Given the description of an element on the screen output the (x, y) to click on. 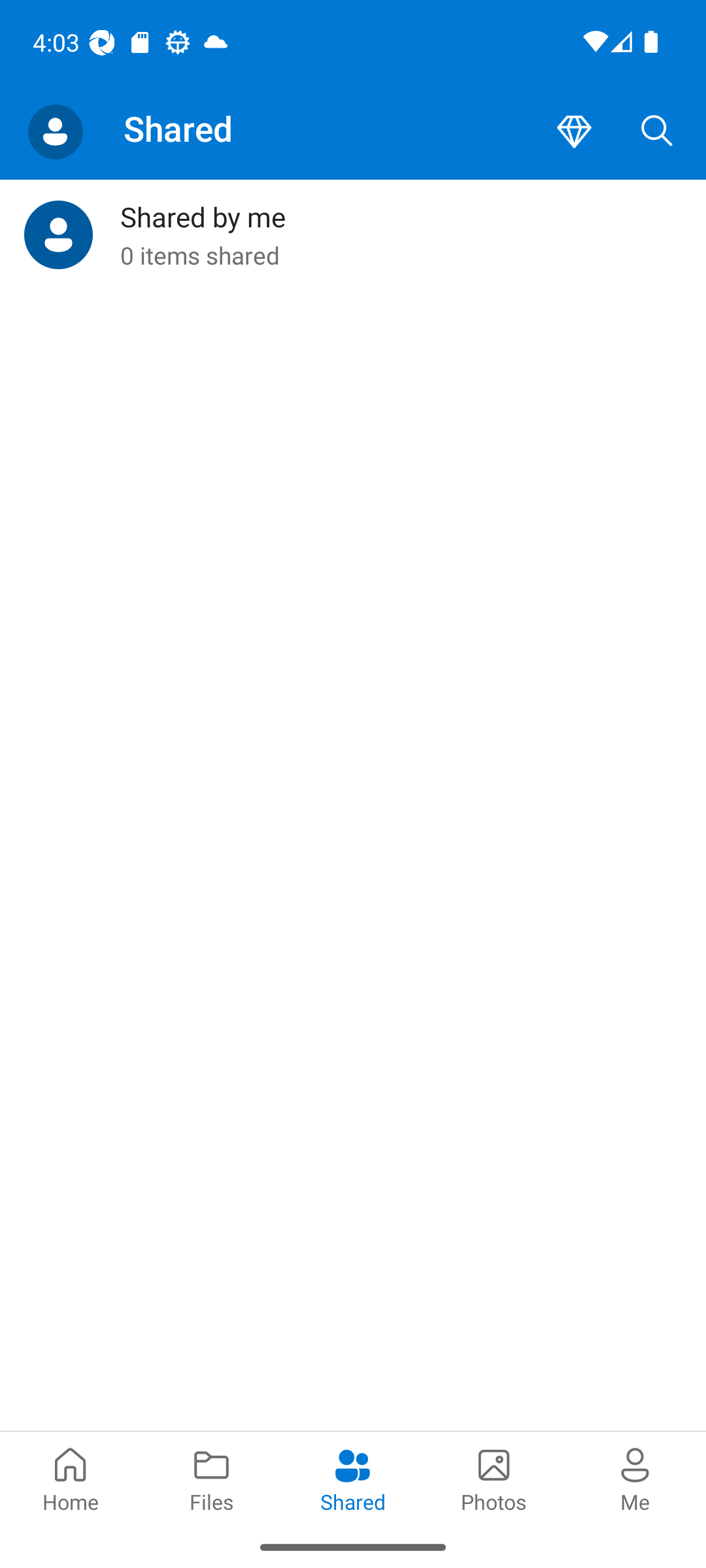
Account switcher (55, 131)
Premium button (574, 131)
Search button (656, 131)
0 Shared by me 0 items shared (353, 235)
Home pivot Home (70, 1478)
Files pivot Files (211, 1478)
Photos pivot Photos (493, 1478)
Me pivot Me (635, 1478)
